Given the description of an element on the screen output the (x, y) to click on. 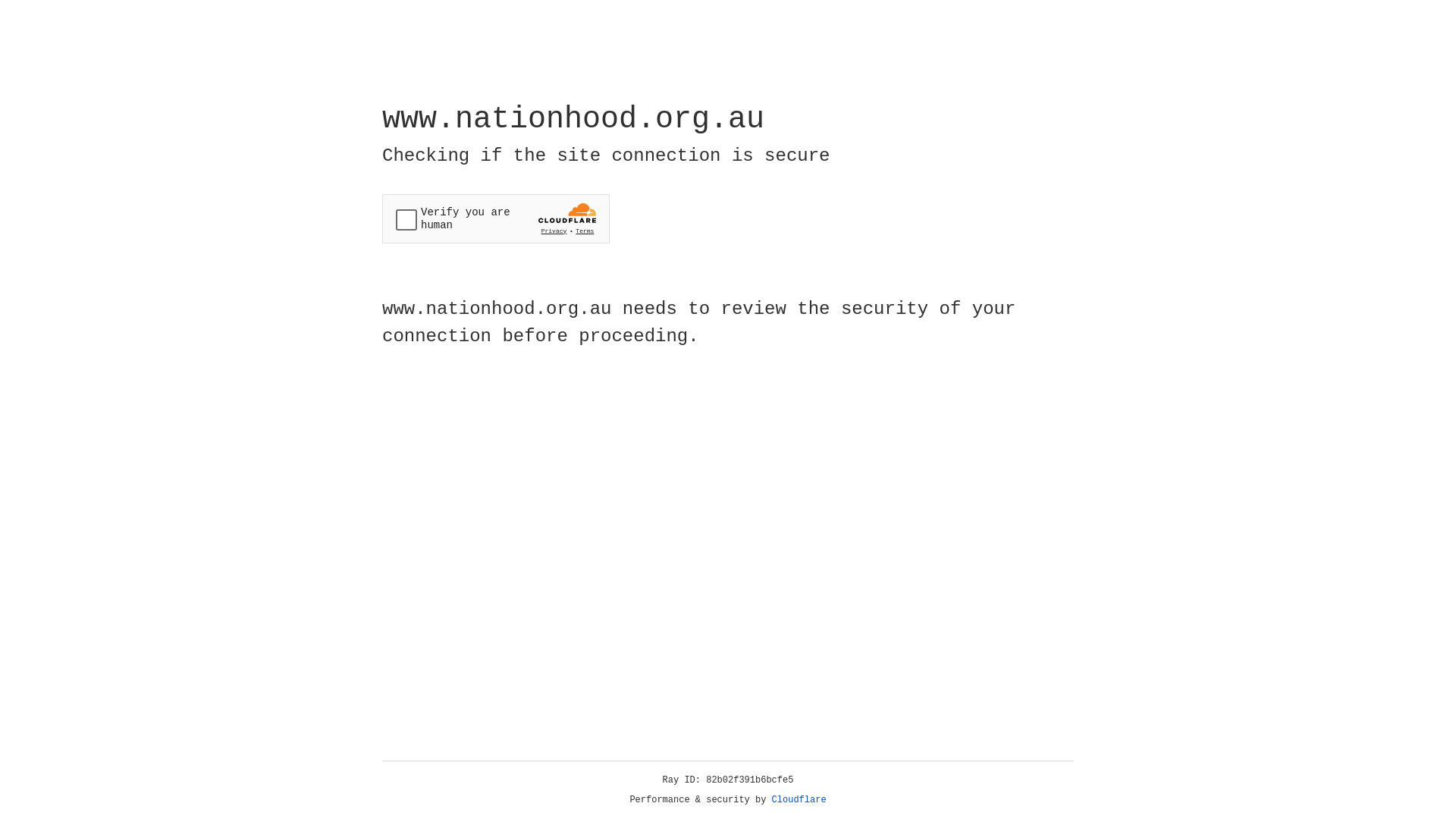
Cloudflare Element type: text (798, 799)
Widget containing a Cloudflare security challenge Element type: hover (495, 218)
